Given the description of an element on the screen output the (x, y) to click on. 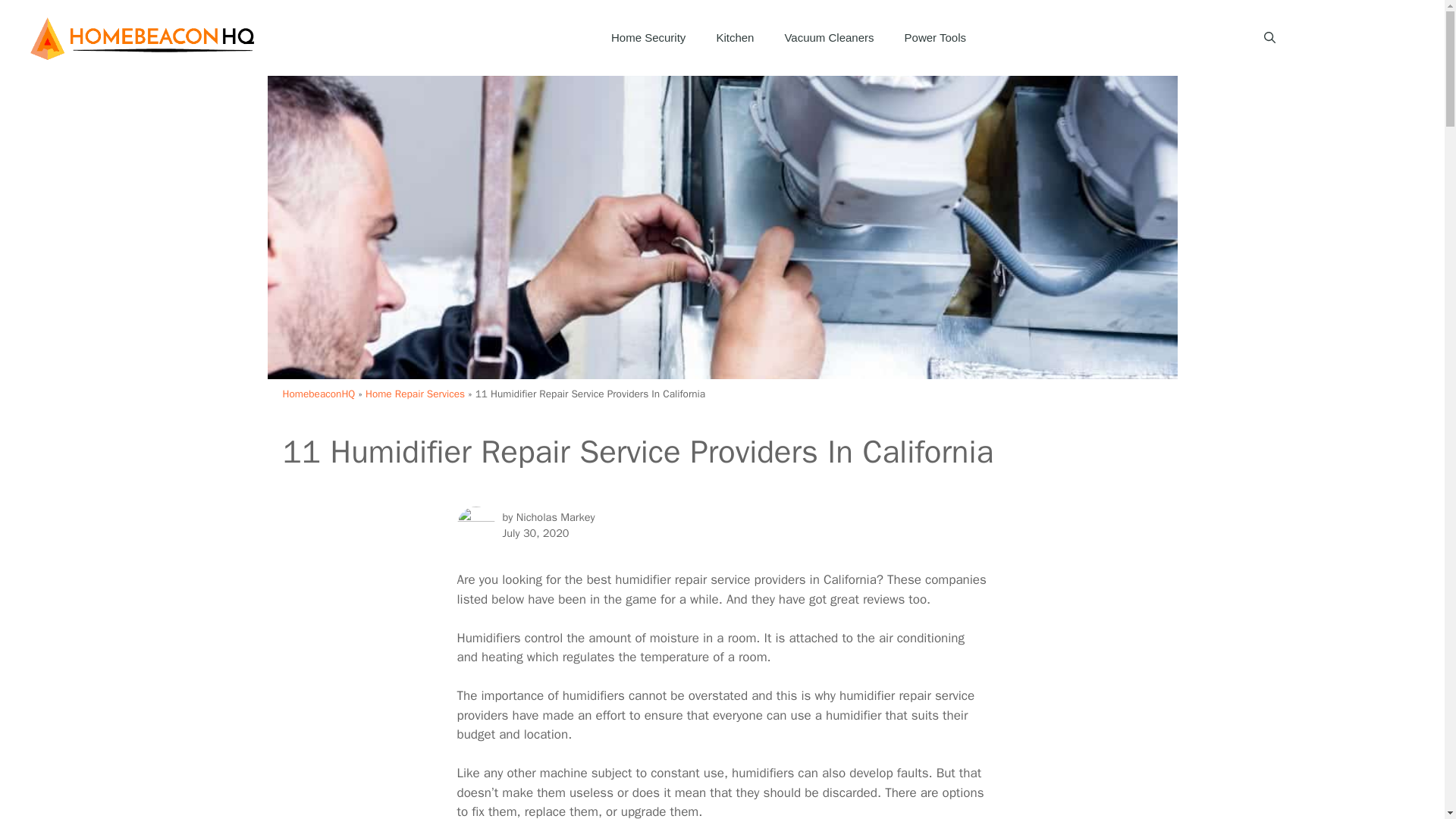
Kitchen (734, 37)
Vacuum Cleaners (828, 37)
Home Beacon HQ (143, 37)
Power Tools (935, 37)
Home Repair Services (414, 393)
Home Security (647, 37)
Home Beacon HQ (143, 36)
HomebeaconHQ (318, 393)
